Given the description of an element on the screen output the (x, y) to click on. 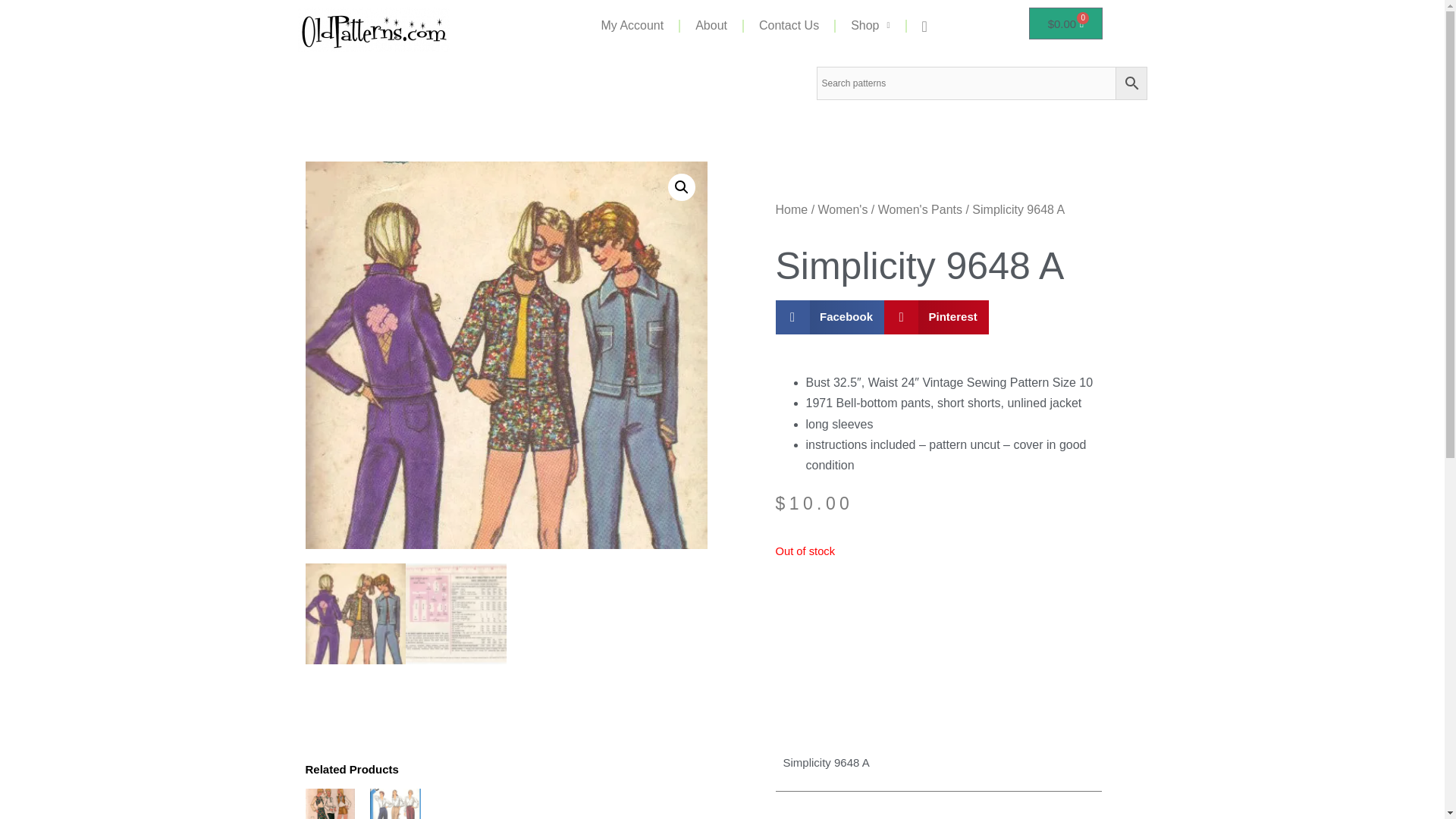
Shop (869, 25)
My Account (631, 25)
Women's (842, 209)
About (710, 25)
Home (791, 209)
Women's Pants (919, 209)
Contact Us (789, 25)
